Given the description of an element on the screen output the (x, y) to click on. 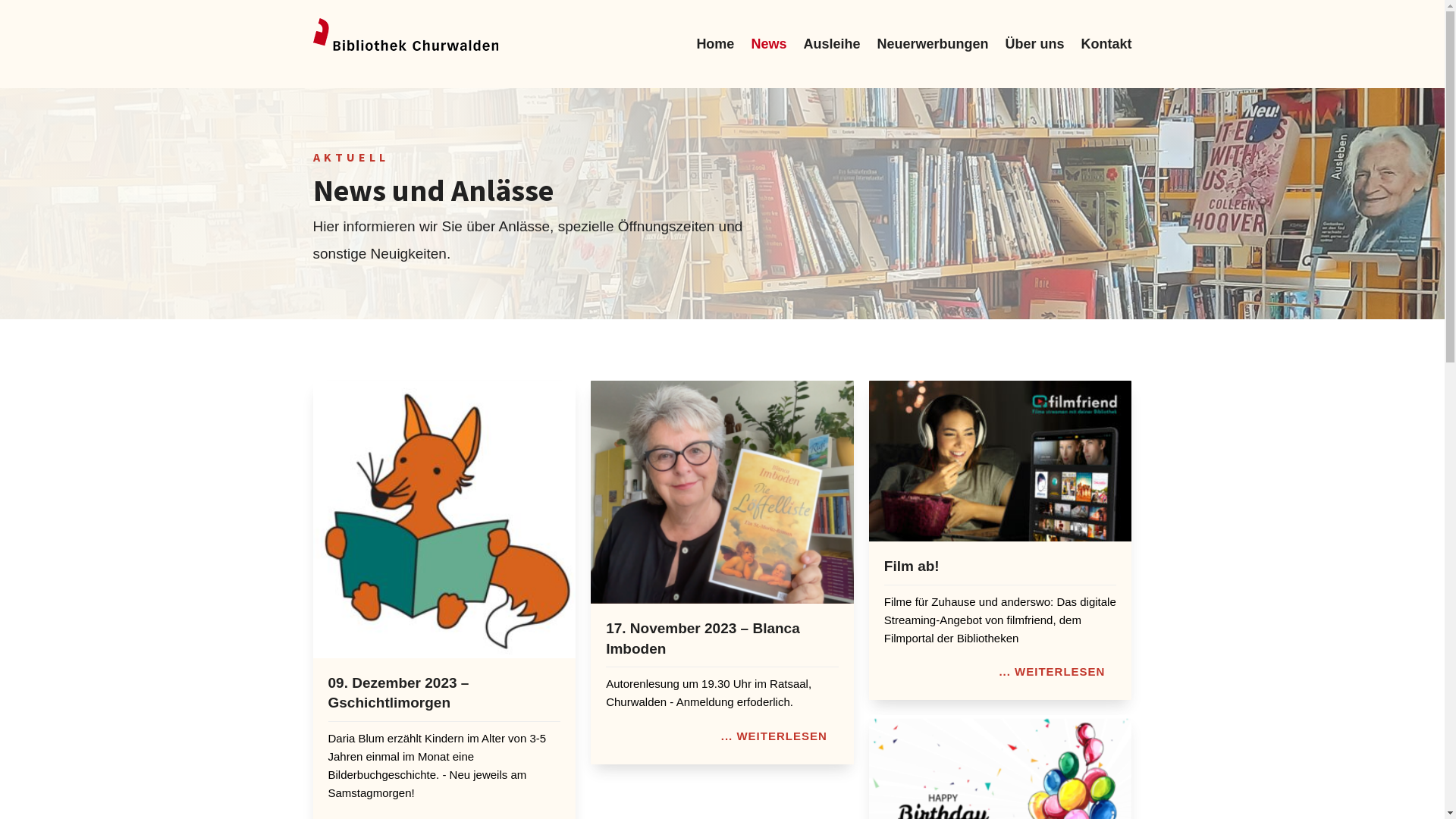
Kontakt Element type: text (1106, 43)
... WEITERLESEN Element type: text (773, 735)
Film ab! Element type: text (911, 566)
Neuerwerbungen Element type: text (932, 43)
News Element type: text (768, 43)
... WEITERLESEN Element type: text (1051, 671)
Home Element type: text (715, 43)
Ausleihe Element type: text (831, 43)
